Given the description of an element on the screen output the (x, y) to click on. 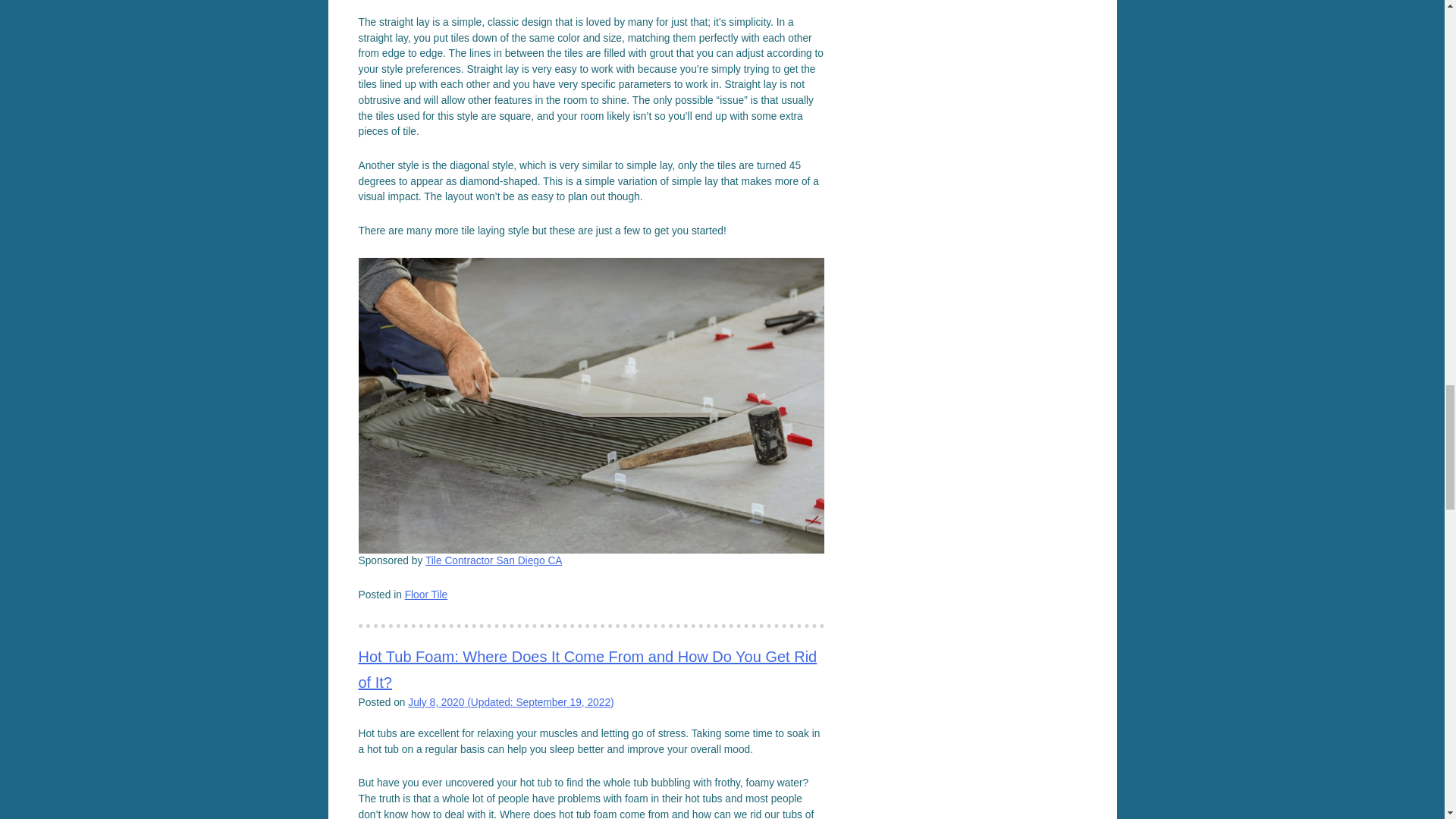
Tile Contractor San Diego CA (493, 560)
Floor Tile (426, 594)
